Given the description of an element on the screen output the (x, y) to click on. 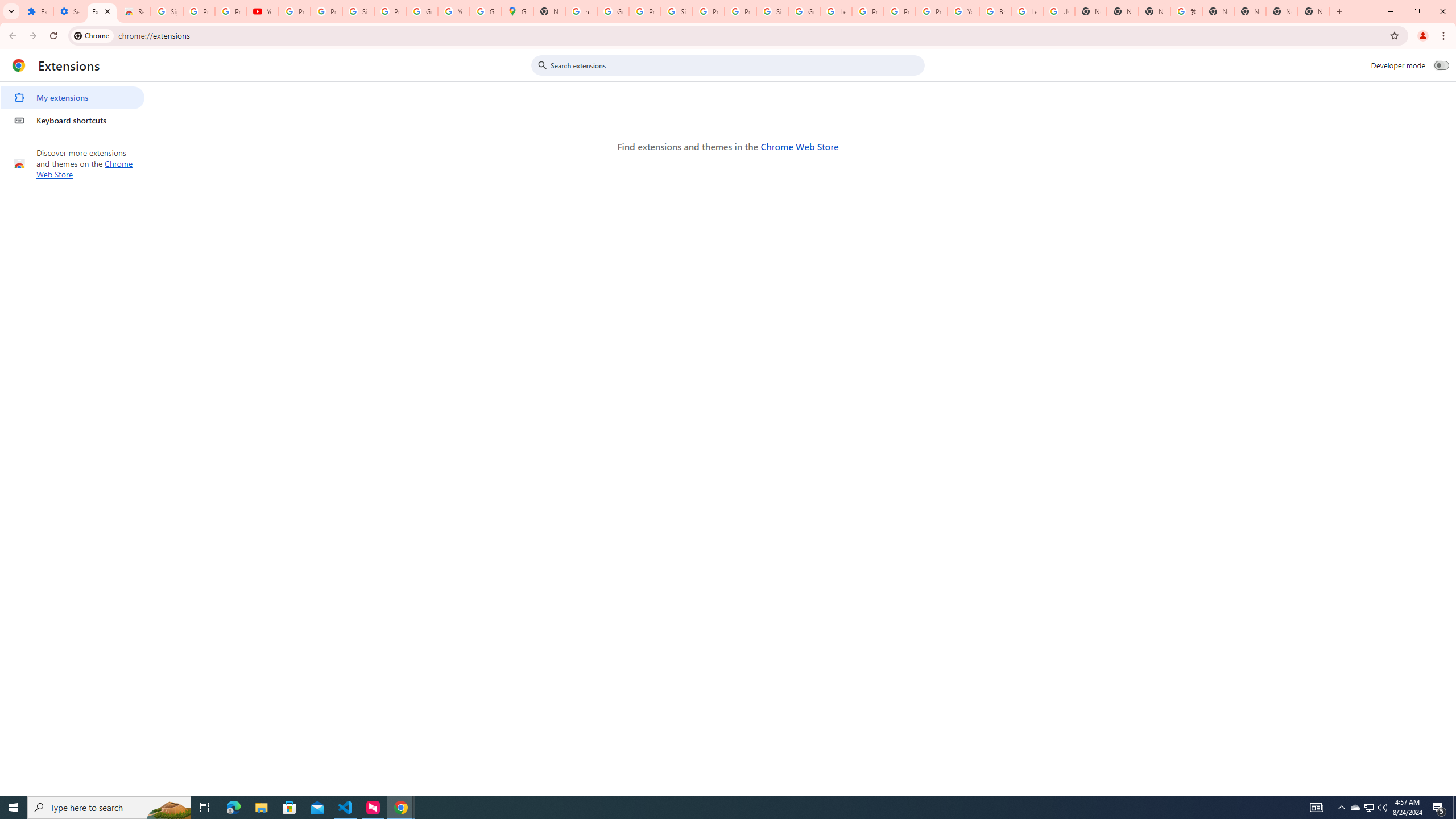
YouTube (262, 11)
YouTube (963, 11)
